Given the description of an element on the screen output the (x, y) to click on. 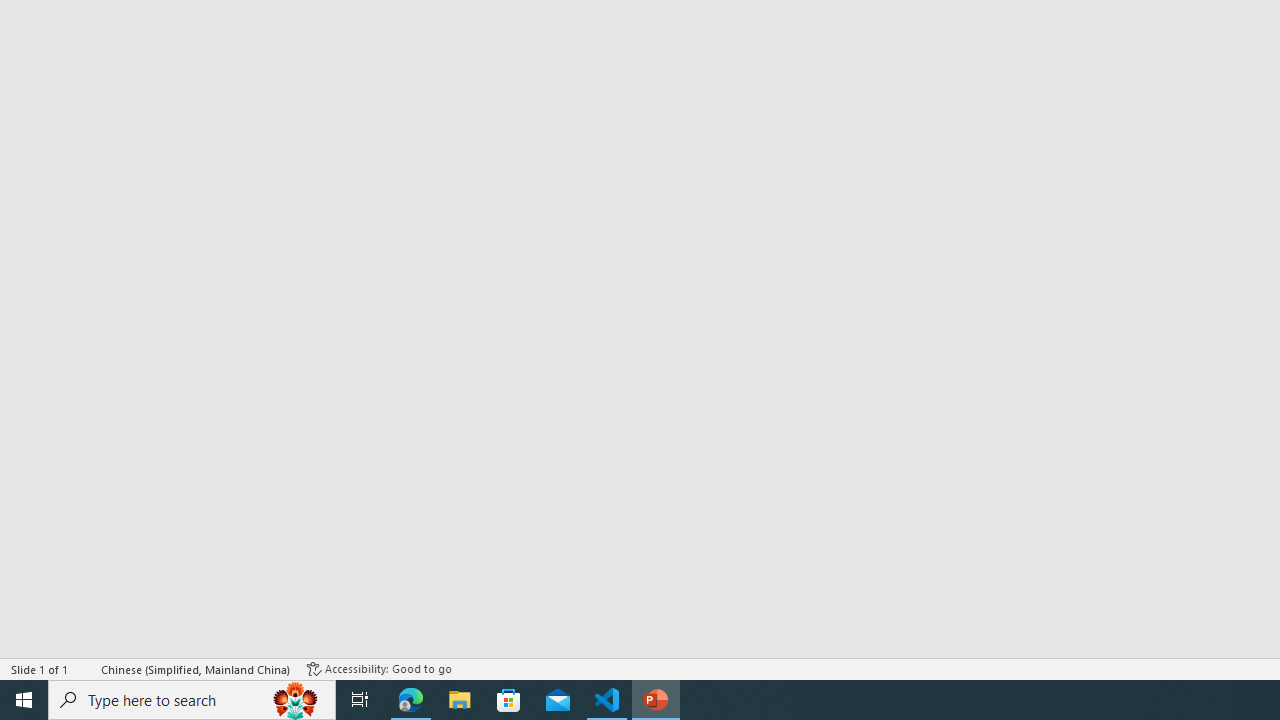
Accessibility Checker Accessibility: Good to go (379, 668)
Spell Check  (86, 668)
